Given the description of an element on the screen output the (x, y) to click on. 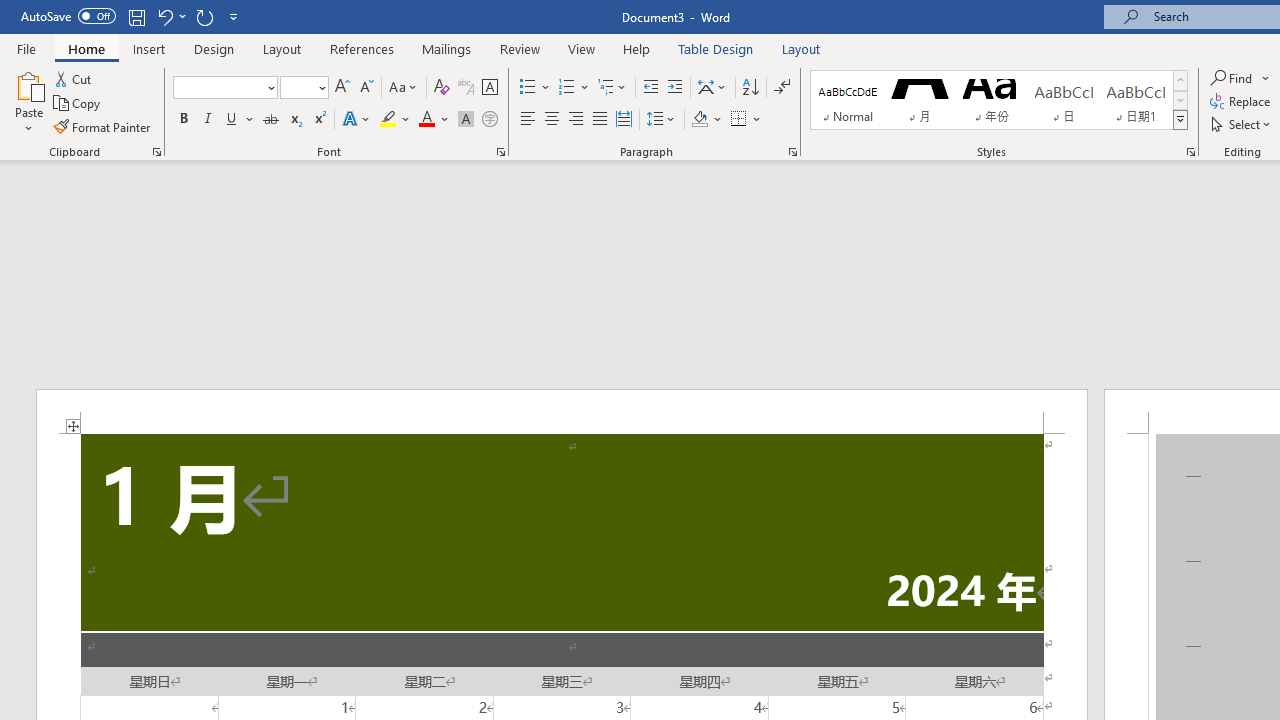
Bold (183, 119)
Multilevel List (613, 87)
